Given the description of an element on the screen output the (x, y) to click on. 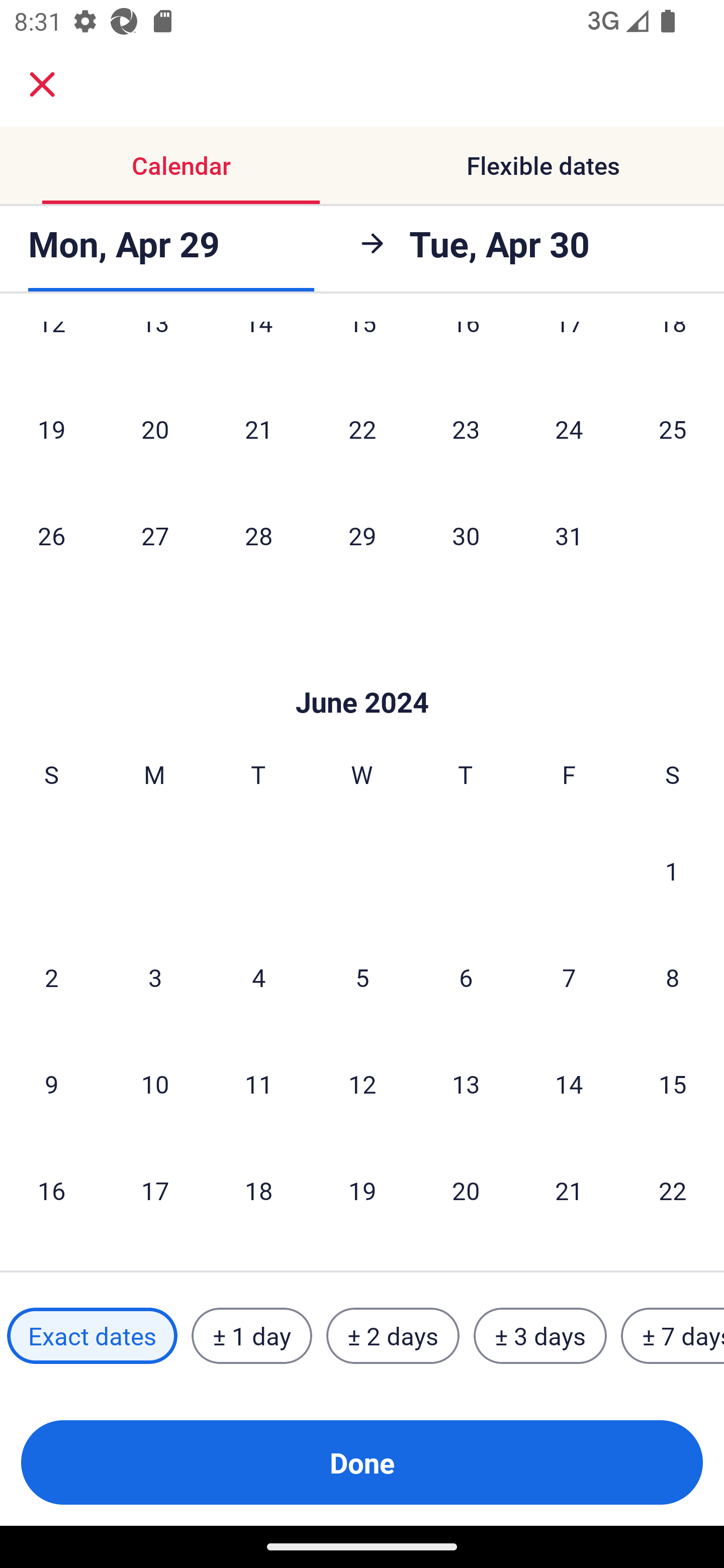
close. (42, 84)
Flexible dates (542, 164)
19 Sunday, May 19, 2024 (51, 428)
20 Monday, May 20, 2024 (155, 428)
21 Tuesday, May 21, 2024 (258, 428)
22 Wednesday, May 22, 2024 (362, 428)
23 Thursday, May 23, 2024 (465, 428)
24 Friday, May 24, 2024 (569, 428)
25 Saturday, May 25, 2024 (672, 428)
26 Sunday, May 26, 2024 (51, 535)
27 Monday, May 27, 2024 (155, 535)
28 Tuesday, May 28, 2024 (258, 535)
29 Wednesday, May 29, 2024 (362, 535)
30 Thursday, May 30, 2024 (465, 535)
31 Friday, May 31, 2024 (569, 535)
Skip to Done (362, 672)
1 Saturday, June 1, 2024 (672, 869)
2 Sunday, June 2, 2024 (51, 976)
3 Monday, June 3, 2024 (155, 976)
4 Tuesday, June 4, 2024 (258, 976)
5 Wednesday, June 5, 2024 (362, 976)
6 Thursday, June 6, 2024 (465, 976)
7 Friday, June 7, 2024 (569, 976)
8 Saturday, June 8, 2024 (672, 976)
9 Sunday, June 9, 2024 (51, 1083)
10 Monday, June 10, 2024 (155, 1083)
11 Tuesday, June 11, 2024 (258, 1083)
12 Wednesday, June 12, 2024 (362, 1083)
13 Thursday, June 13, 2024 (465, 1083)
14 Friday, June 14, 2024 (569, 1083)
15 Saturday, June 15, 2024 (672, 1083)
16 Sunday, June 16, 2024 (51, 1189)
17 Monday, June 17, 2024 (155, 1189)
18 Tuesday, June 18, 2024 (258, 1189)
19 Wednesday, June 19, 2024 (362, 1189)
20 Thursday, June 20, 2024 (465, 1189)
21 Friday, June 21, 2024 (569, 1189)
22 Saturday, June 22, 2024 (672, 1189)
Exact dates (92, 1335)
± 1 day (251, 1335)
± 2 days (392, 1335)
± 3 days (539, 1335)
± 7 days (672, 1335)
Done (361, 1462)
